Given the description of an element on the screen output the (x, y) to click on. 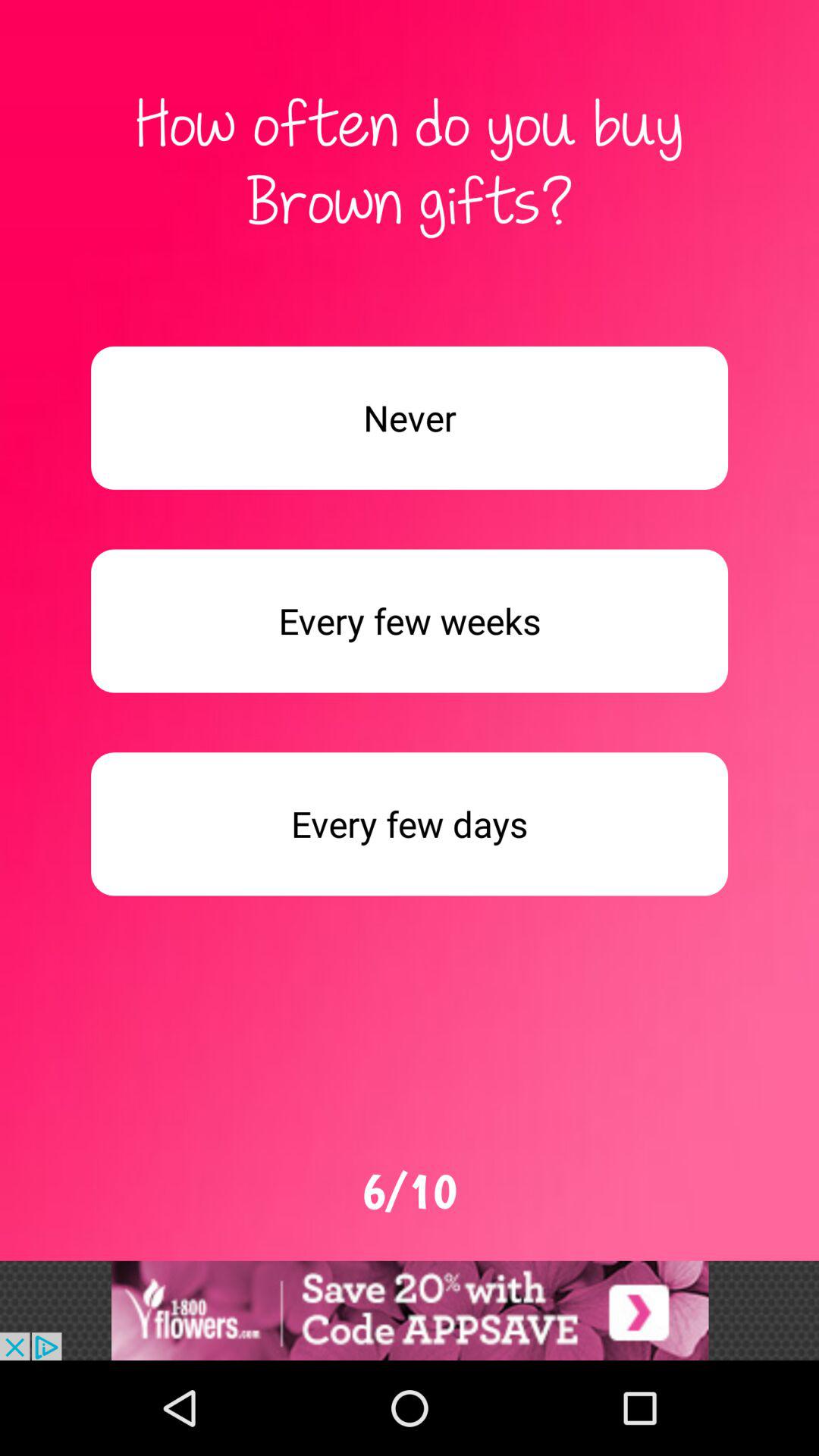
select every few weeks (409, 620)
